Given the description of an element on the screen output the (x, y) to click on. 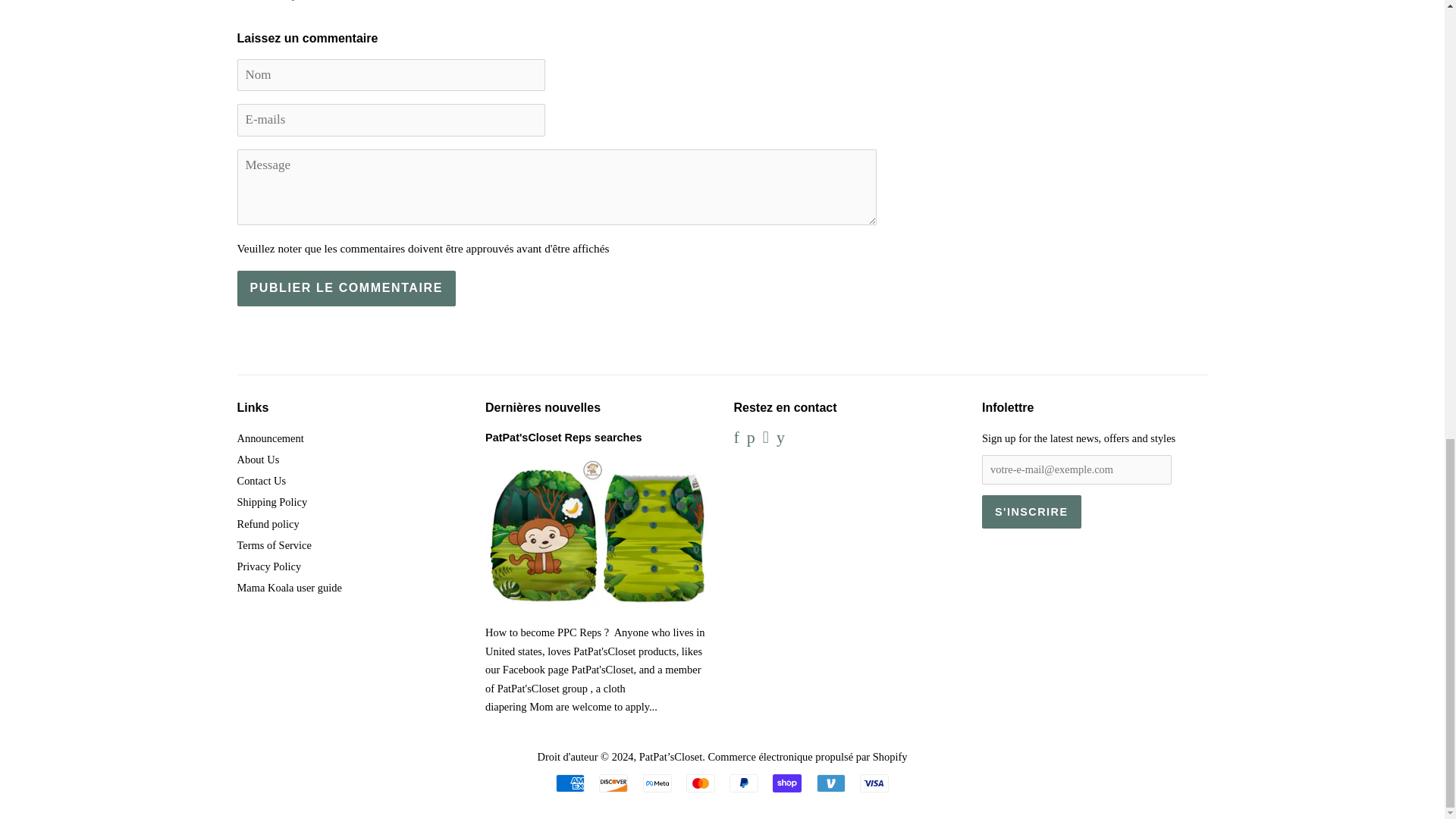
Mastercard (699, 782)
Visa (874, 782)
Discover (612, 782)
Venmo (830, 782)
Shop Pay (787, 782)
Meta Pay (657, 782)
Publier le commentaire (344, 288)
S'inscrire (1031, 511)
PayPal (743, 782)
American Express (570, 782)
